Given the description of an element on the screen output the (x, y) to click on. 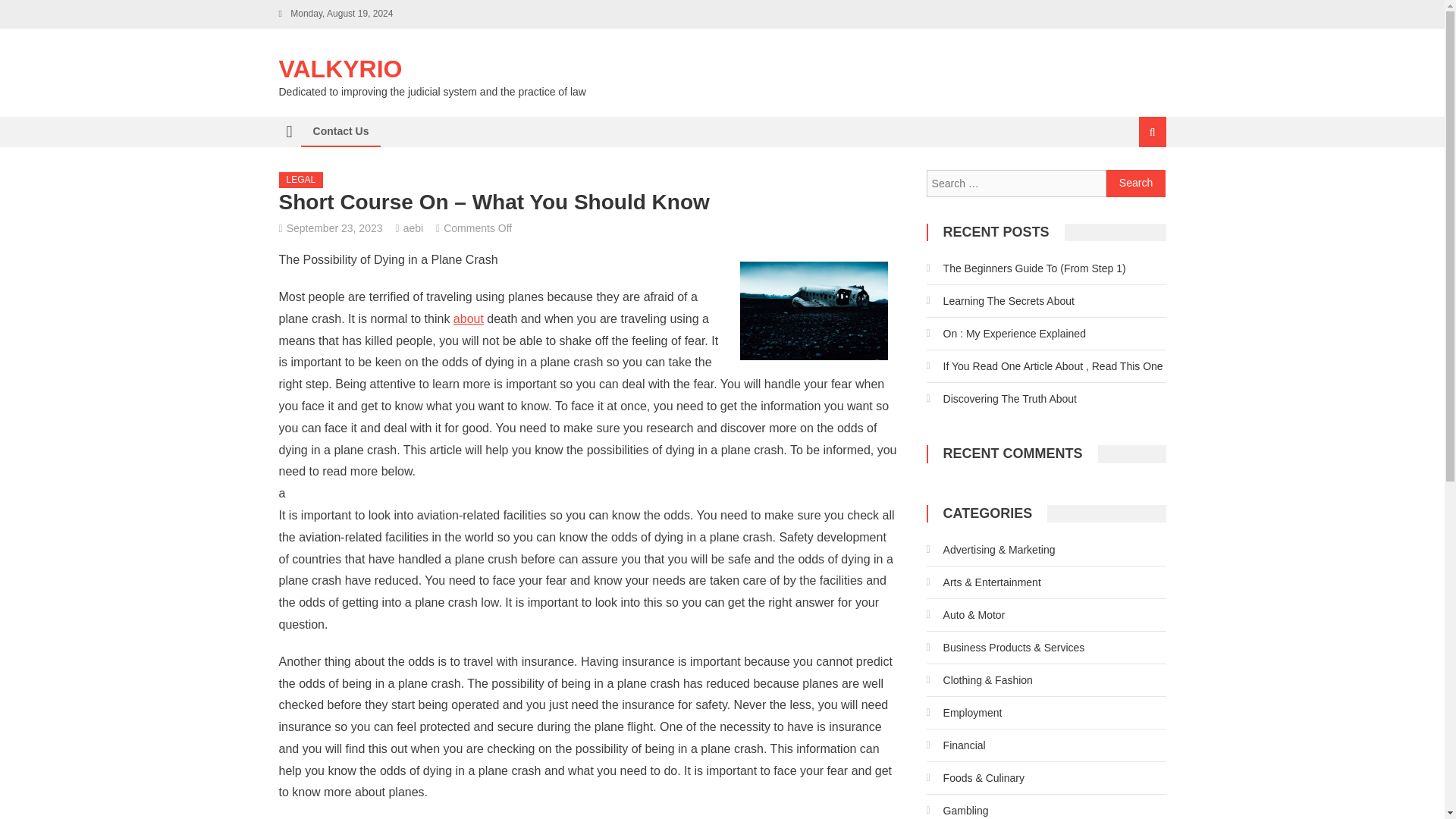
Learning The Secrets About (1000, 300)
Search (1136, 183)
Contact Us (340, 131)
If You Read One Article About , Read This One (1044, 365)
about (467, 318)
Search (1136, 183)
Search (1133, 182)
Search (1136, 183)
VALKYRIO (341, 68)
September 23, 2023 (334, 227)
